Given the description of an element on the screen output the (x, y) to click on. 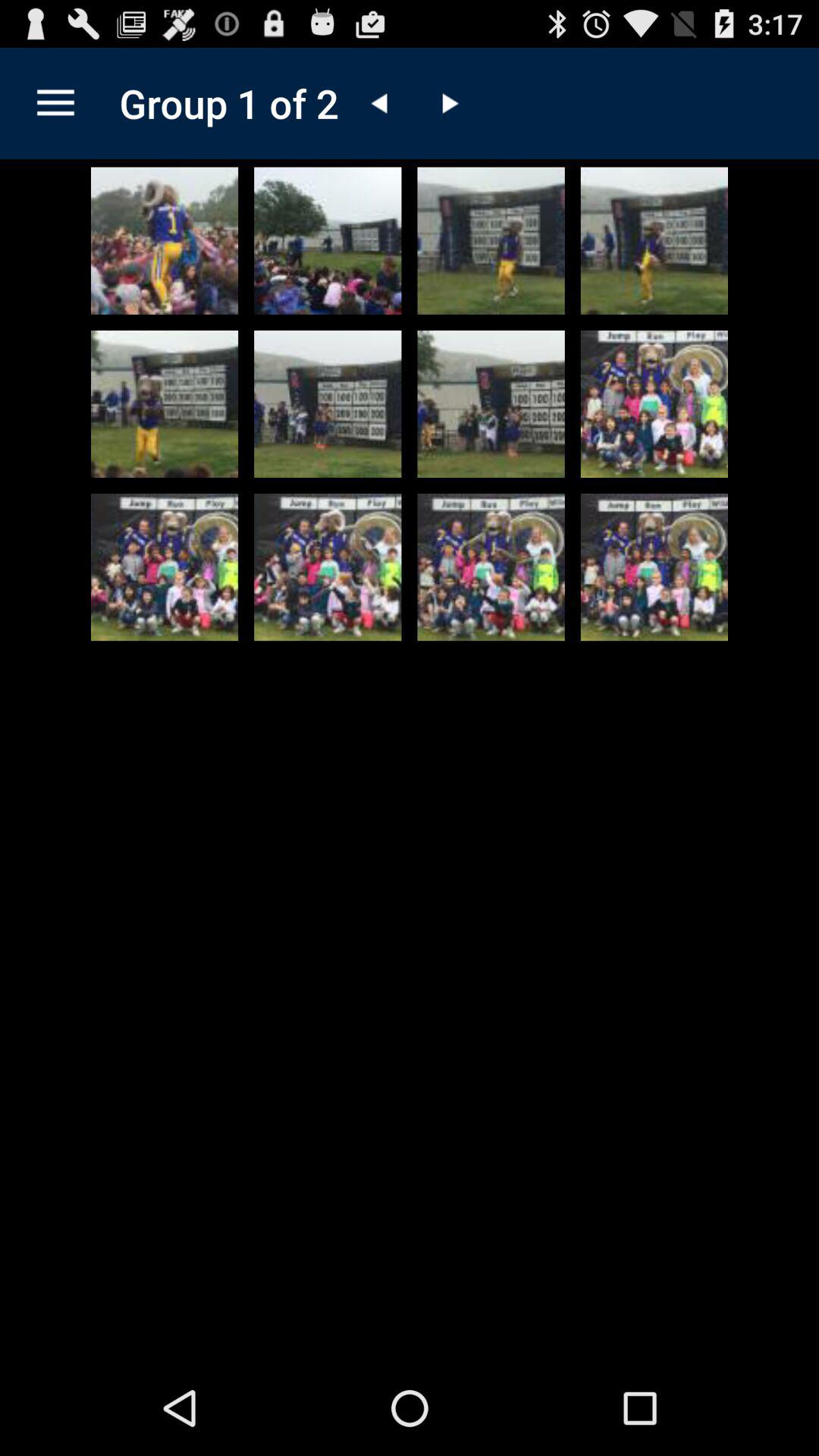
look at the image (164, 240)
